Given the description of an element on the screen output the (x, y) to click on. 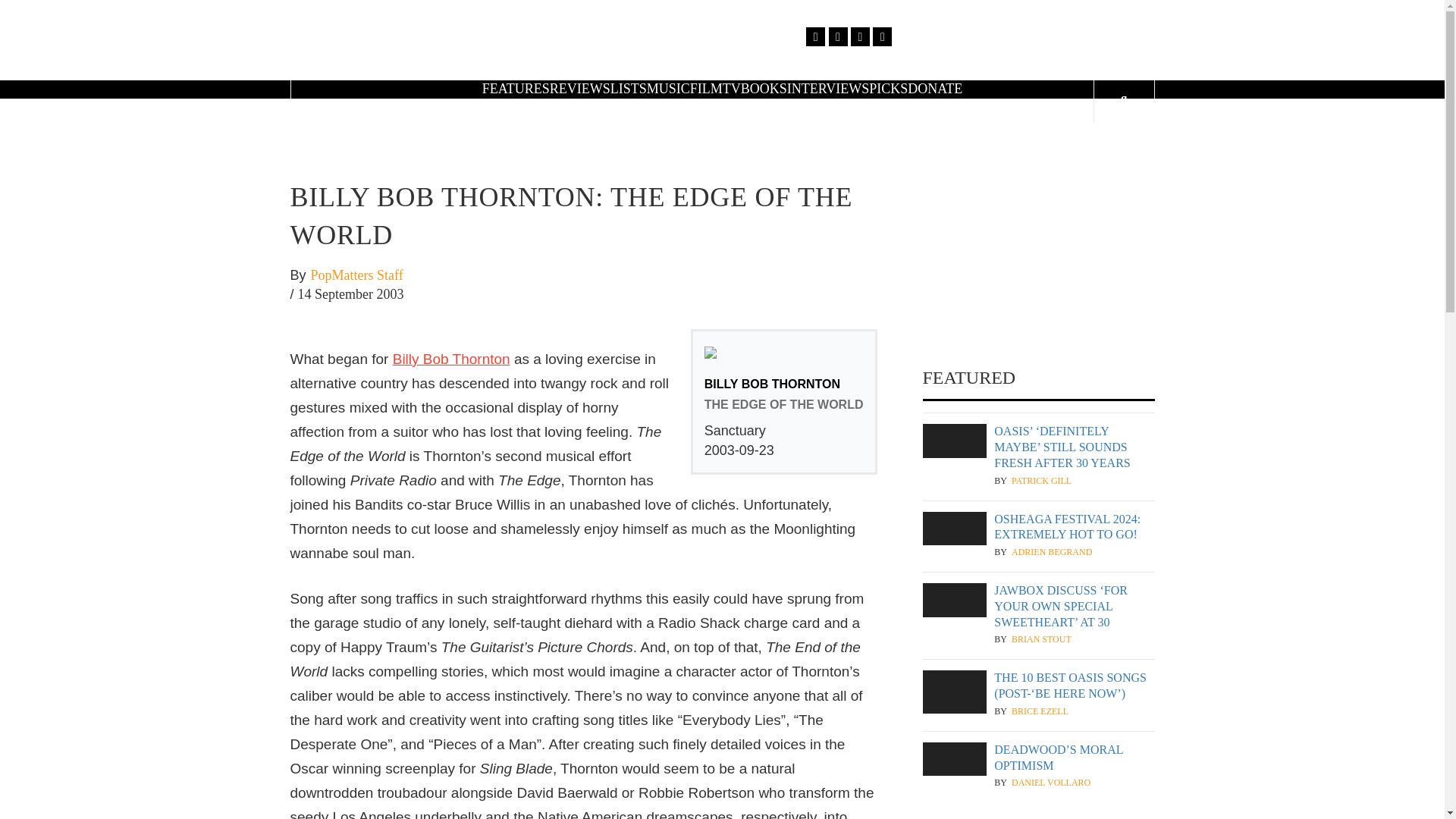
TV (731, 88)
MUSIC (668, 88)
FEATURES (515, 88)
PopMatters Staff (357, 275)
Facebook (815, 36)
Instagram (859, 36)
Brice Ezell (1039, 711)
PICKS (888, 88)
Adrien Begrand (1051, 552)
Brian Stout (1041, 639)
